Given the description of an element on the screen output the (x, y) to click on. 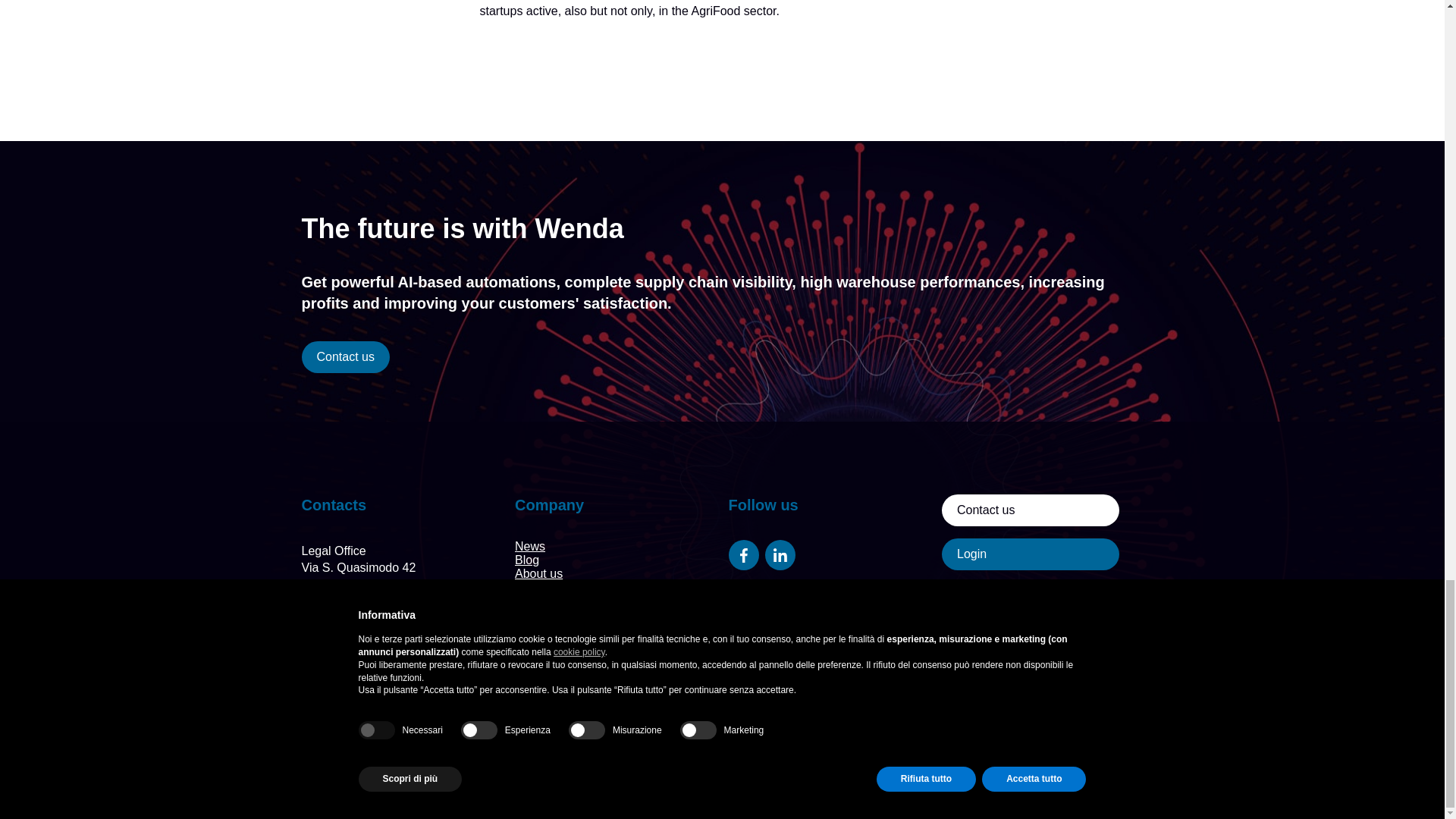
General Conditions (566, 586)
Italiano (534, 673)
Privacy policy ridotta (621, 787)
Contact us (1030, 510)
English (534, 686)
Privacy policy (434, 787)
News (529, 545)
About us (538, 573)
Contact us (345, 357)
Blog (526, 559)
Cookie policy (517, 787)
Login (1030, 554)
